Given the description of an element on the screen output the (x, y) to click on. 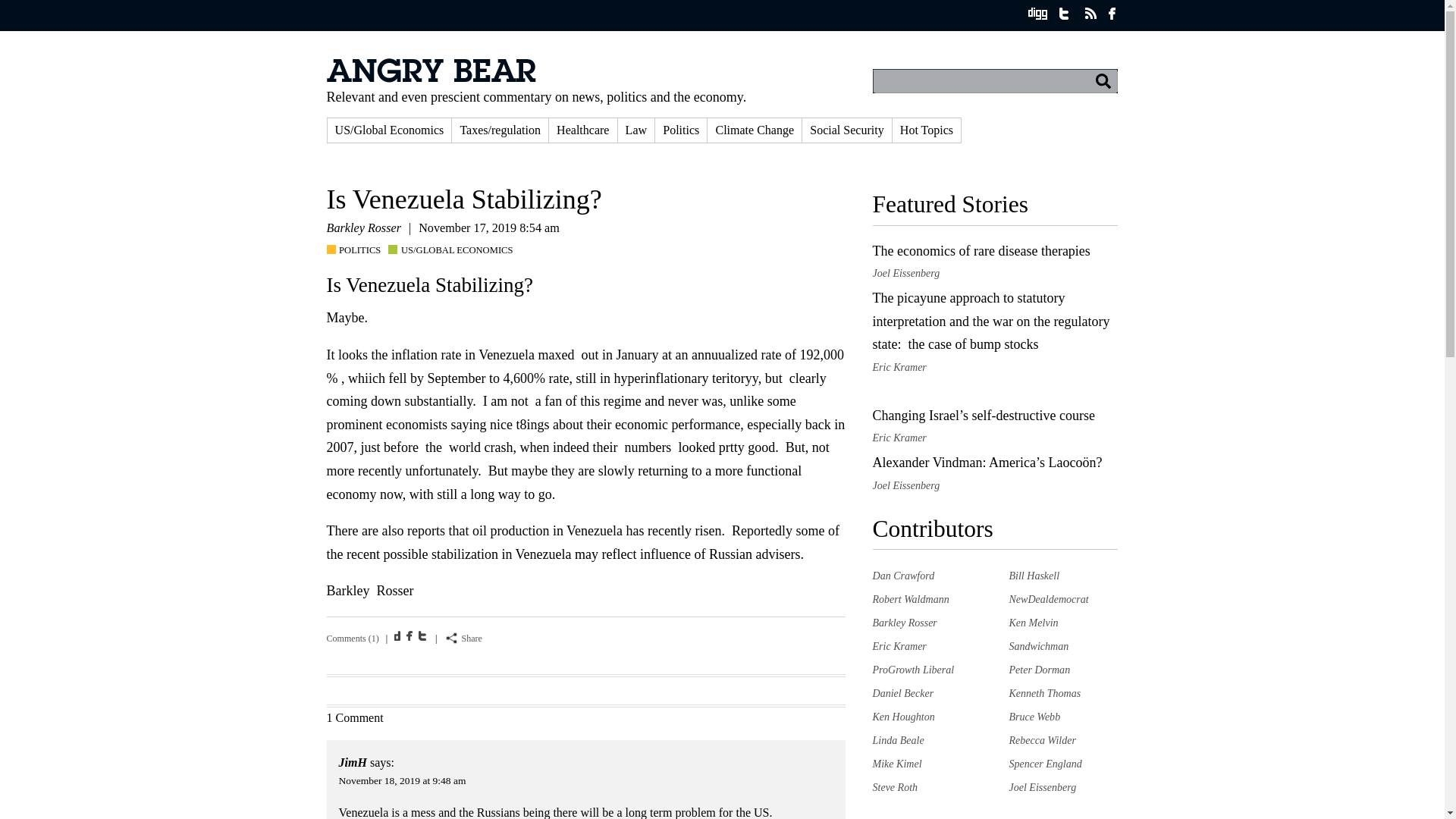
Healthcare (582, 129)
Dan Crawford (903, 575)
Ken Houghton (903, 716)
Daniel Becker (902, 693)
ProGrowth Liberal (912, 669)
Facebook (411, 635)
Steve Roth (894, 787)
Climate Change (754, 129)
Mike Kimel (896, 763)
Linda Beale (897, 739)
November 18, 2019 at 9:48 am (402, 780)
Barkley Rosser (904, 622)
The economics of rare disease therapies (980, 250)
Is Venezuela Stabilizing? (463, 199)
